Given the description of an element on the screen output the (x, y) to click on. 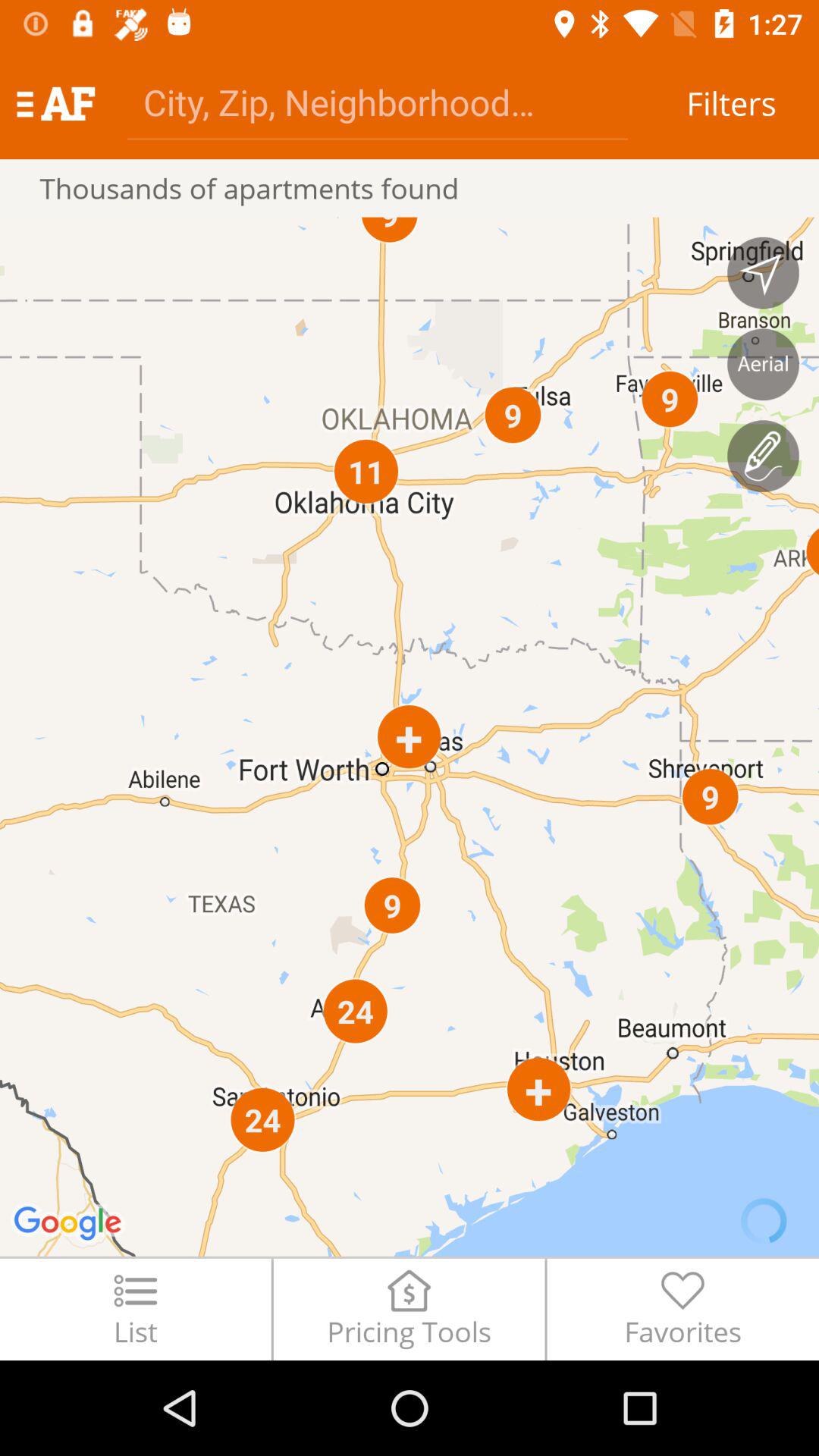
flip to the list icon (135, 1309)
